Given the description of an element on the screen output the (x, y) to click on. 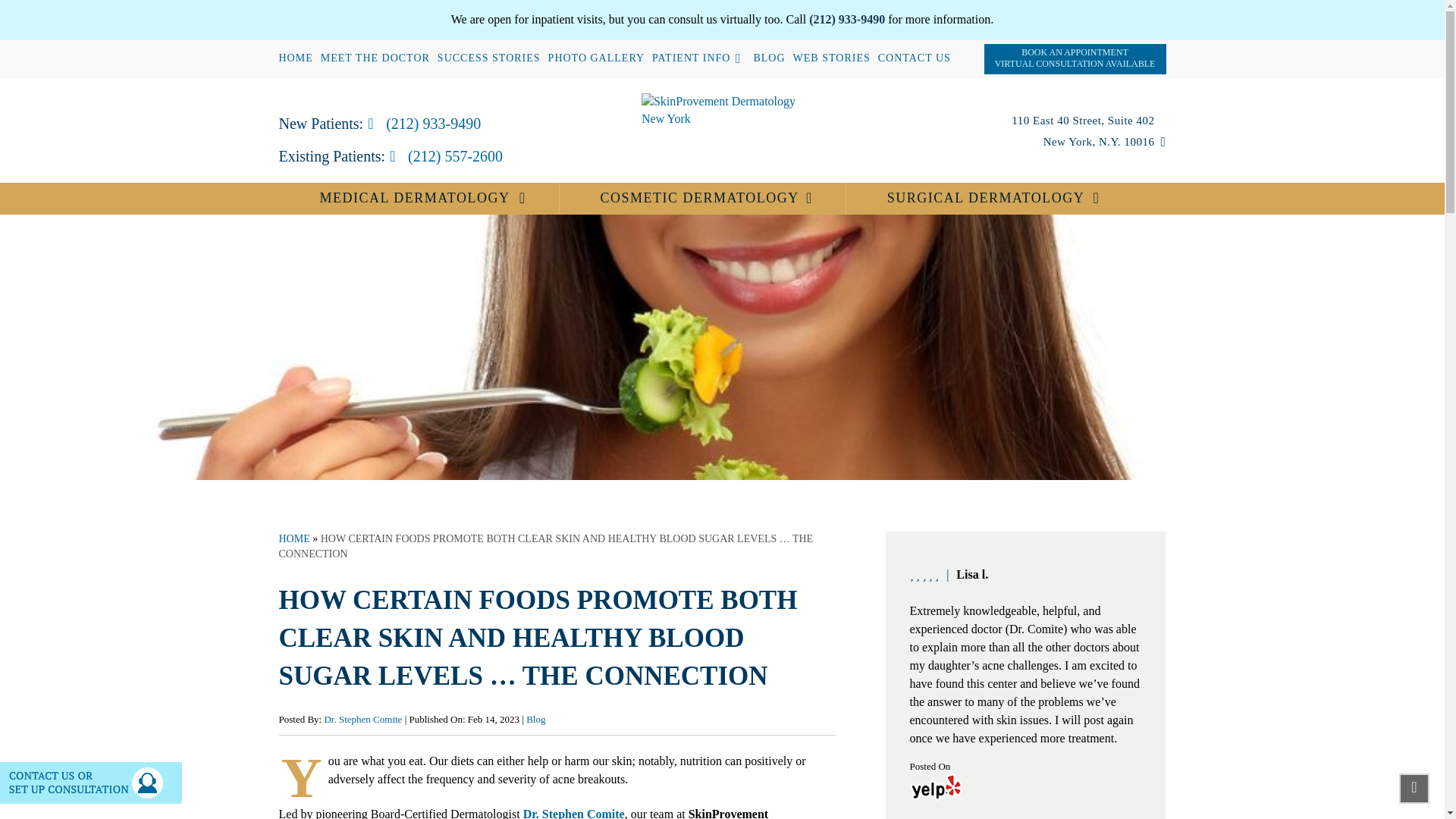
SUCCESS STORIES (489, 57)
HOME (296, 57)
MEET THE DOCTOR (374, 57)
SkinProvement Dermatology Logo (722, 110)
Google Direction MAP link (1088, 130)
